Given the description of an element on the screen output the (x, y) to click on. 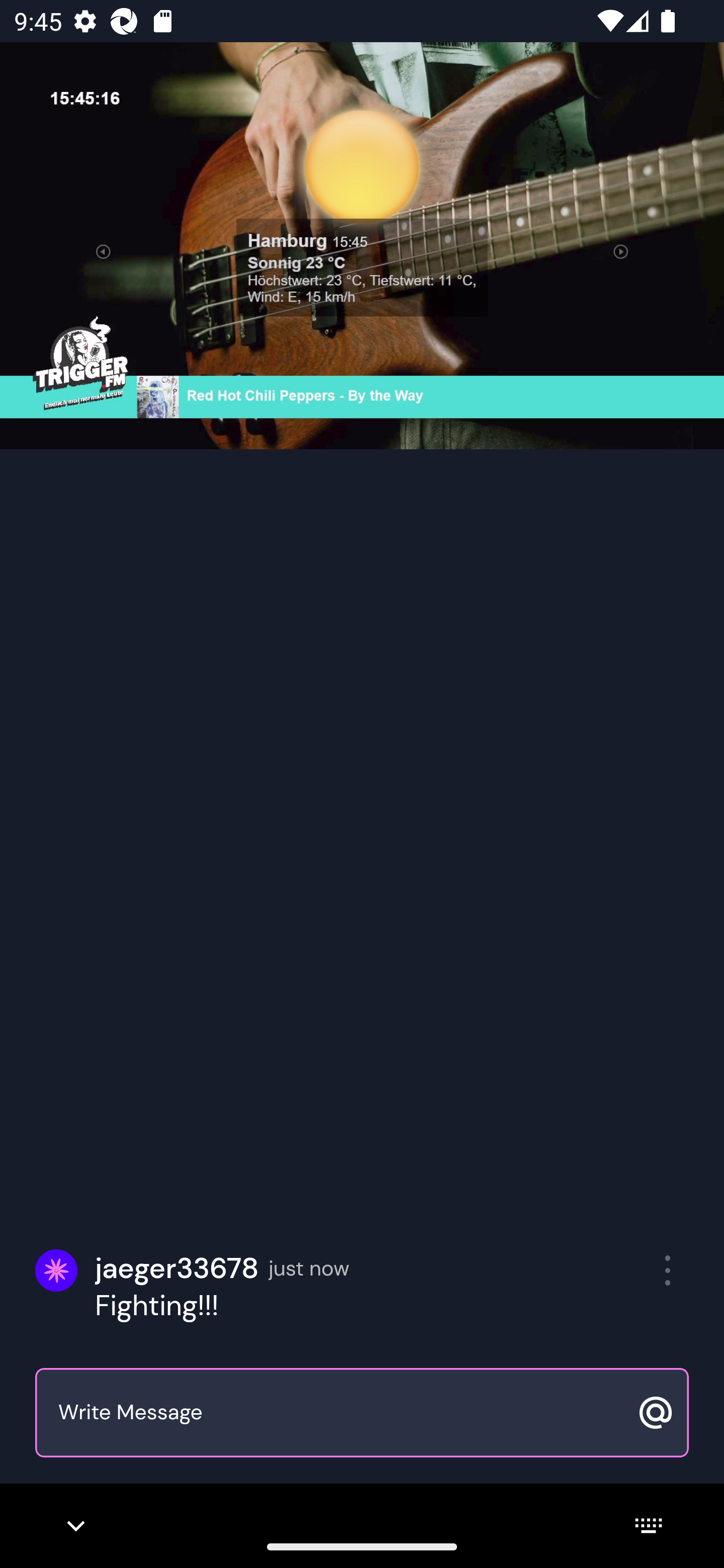
jaeger33678 (176, 1268)
Write Message (340, 1413)
